Given the description of an element on the screen output the (x, y) to click on. 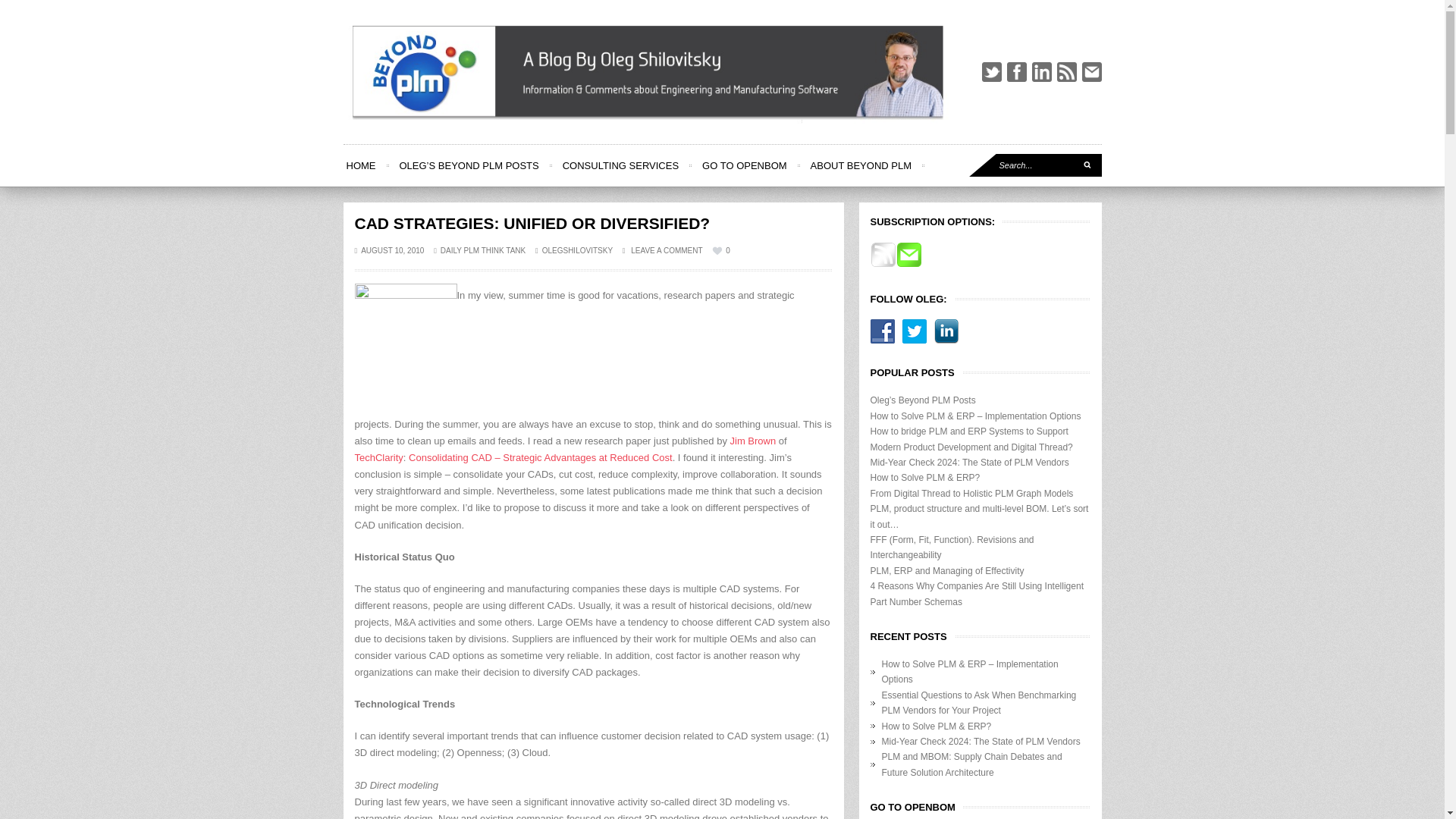
GO TO OPENBOM (743, 165)
Jim Brown (753, 440)
Subscribe via Email (908, 264)
0 (720, 250)
Like this (720, 250)
Posts by olegshilovitsky (576, 250)
twitter (991, 71)
Search... (1035, 164)
CONSULTING SERVICES (620, 165)
ABOUT BEYOND PLM (861, 165)
Search... (1035, 164)
LEAVE A COMMENT (663, 250)
Subscribe via RSS (883, 264)
OLEGSHILOVITSKY (576, 250)
mail (1090, 71)
